Given the description of an element on the screen output the (x, y) to click on. 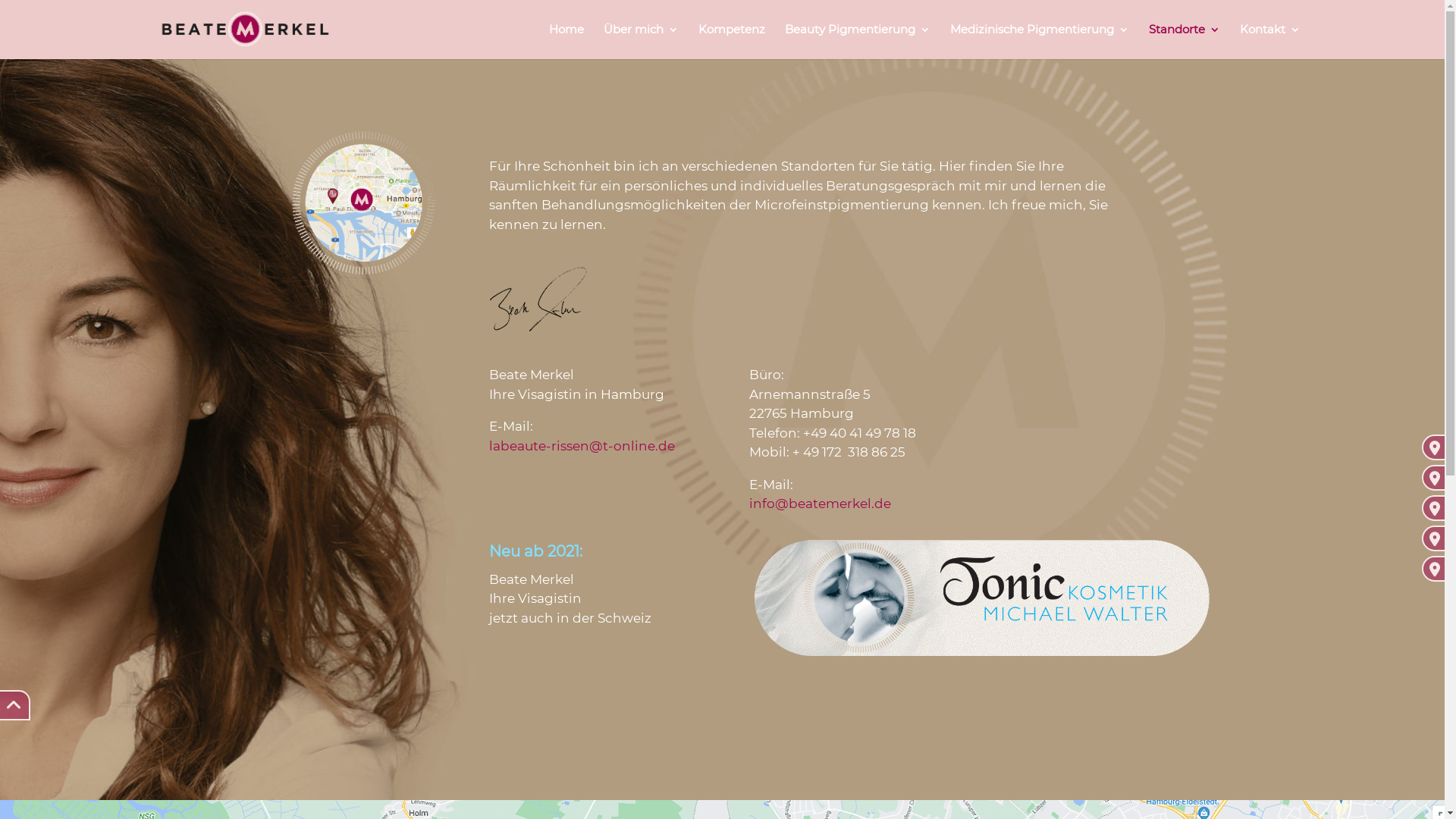
Medizinische Pigmentierung Element type: text (1038, 41)
Home Element type: text (566, 41)
Beauty Pigmentierung Element type: text (856, 41)
Kompetenz Element type: text (730, 41)
Kontakt Element type: text (1269, 41)
labeaute-rissen@t-online.de Element type: text (581, 445)
info@beatemerkel.de Element type: text (820, 503)
Standorte Element type: text (1183, 41)
